Given the description of an element on the screen output the (x, y) to click on. 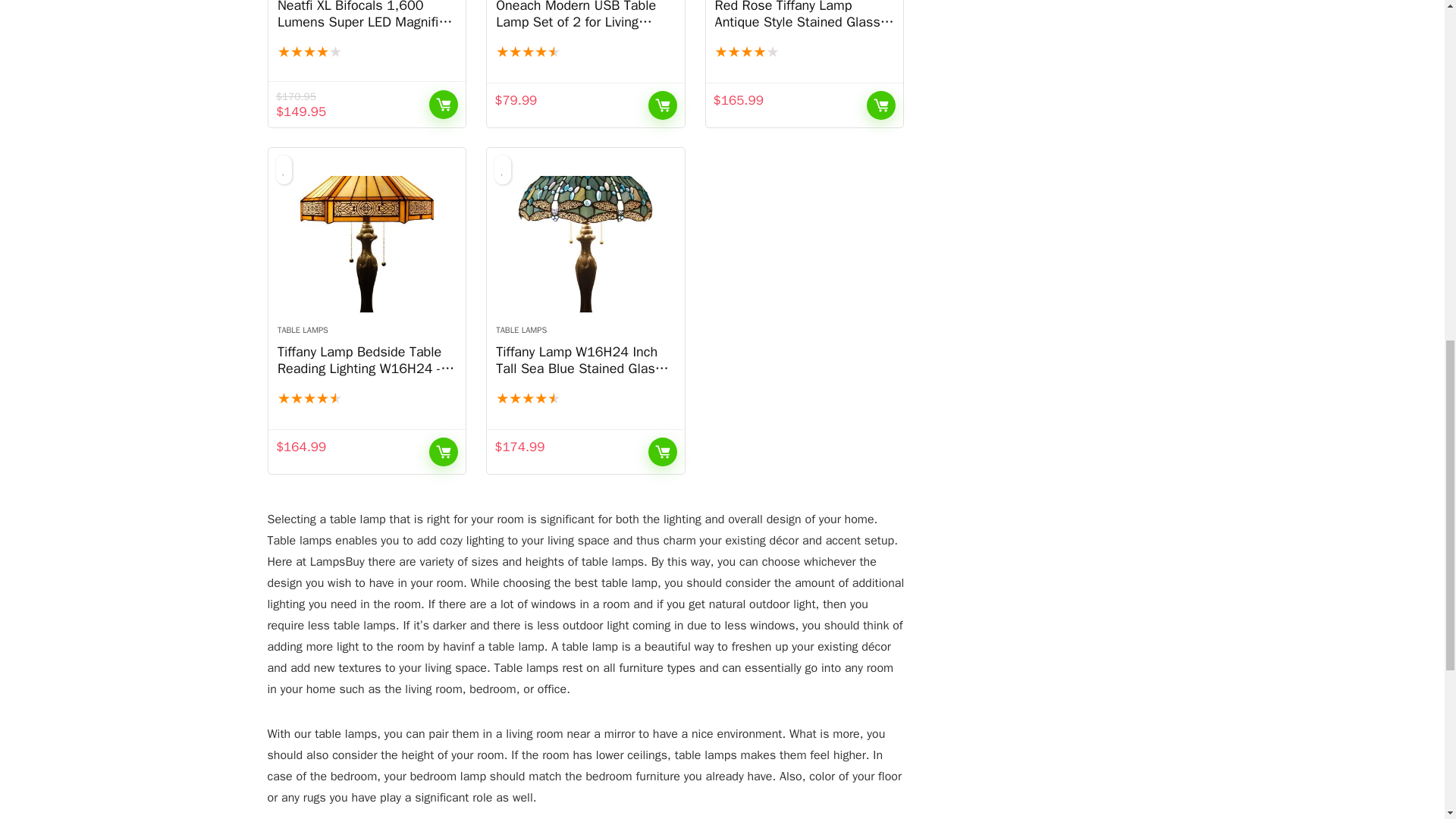
Rated 8.5 out of 10 (367, 52)
Rated 8.5 out of 10 (803, 52)
Rated 9 out of 10 (367, 398)
Rated 9.5 out of 10 (585, 52)
Rated 9.5 out of 10 (585, 398)
